Given the description of an element on the screen output the (x, y) to click on. 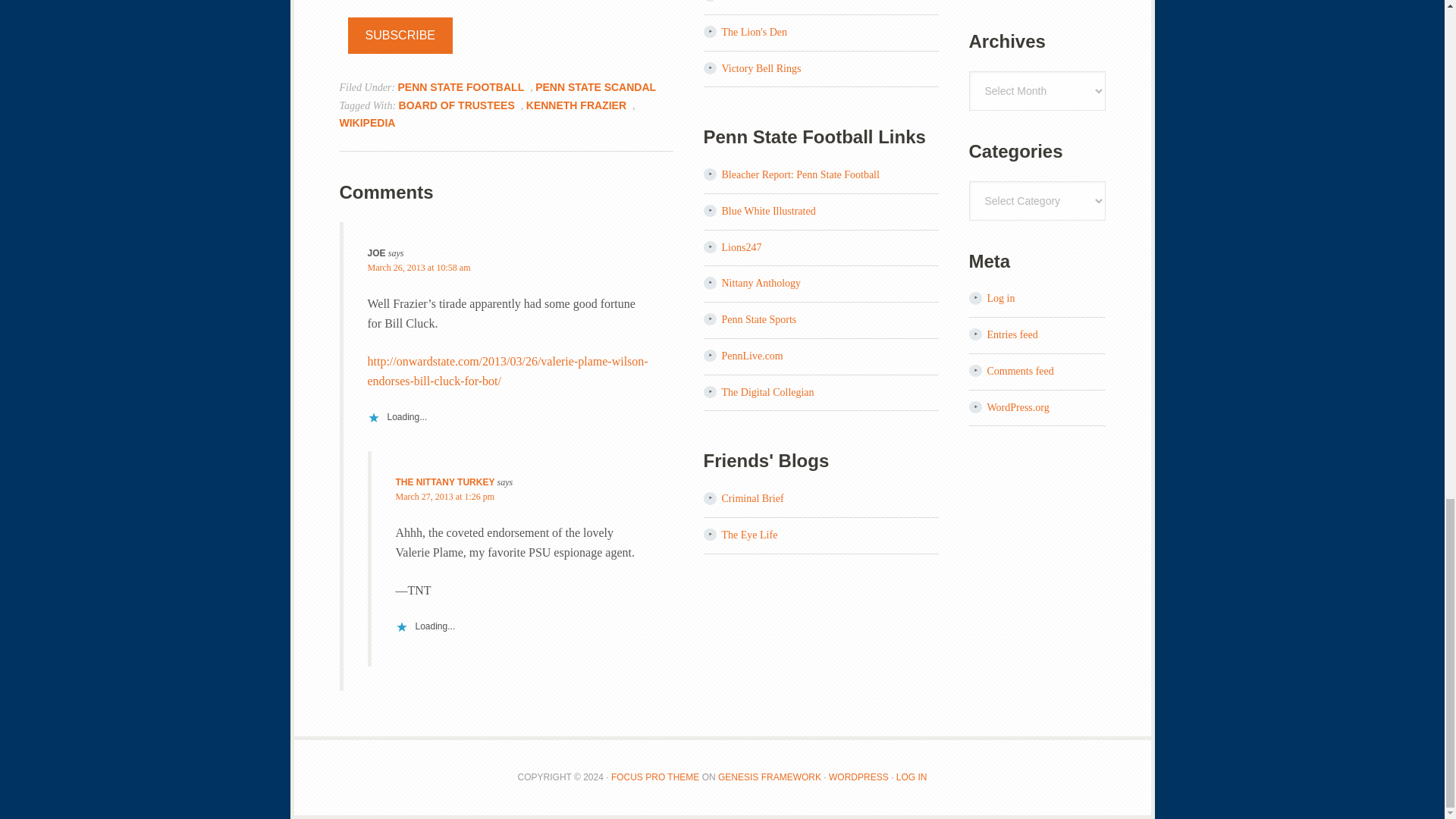
SUBSCRIBE (399, 35)
BOARD OF TRUSTEES (456, 105)
March 27, 2013 at 1:26 pm (445, 496)
PENN STATE FOOTBALL (460, 87)
Phil Grosz and company. Commentary about PSU sports. (768, 211)
March 26, 2013 at 10:58 am (418, 267)
WIKIPEDIA (367, 122)
THE NITTANY TURKEY (445, 481)
KENNETH FRAZIER (575, 105)
PENN STATE SCANDAL (595, 87)
